Given the description of an element on the screen output the (x, y) to click on. 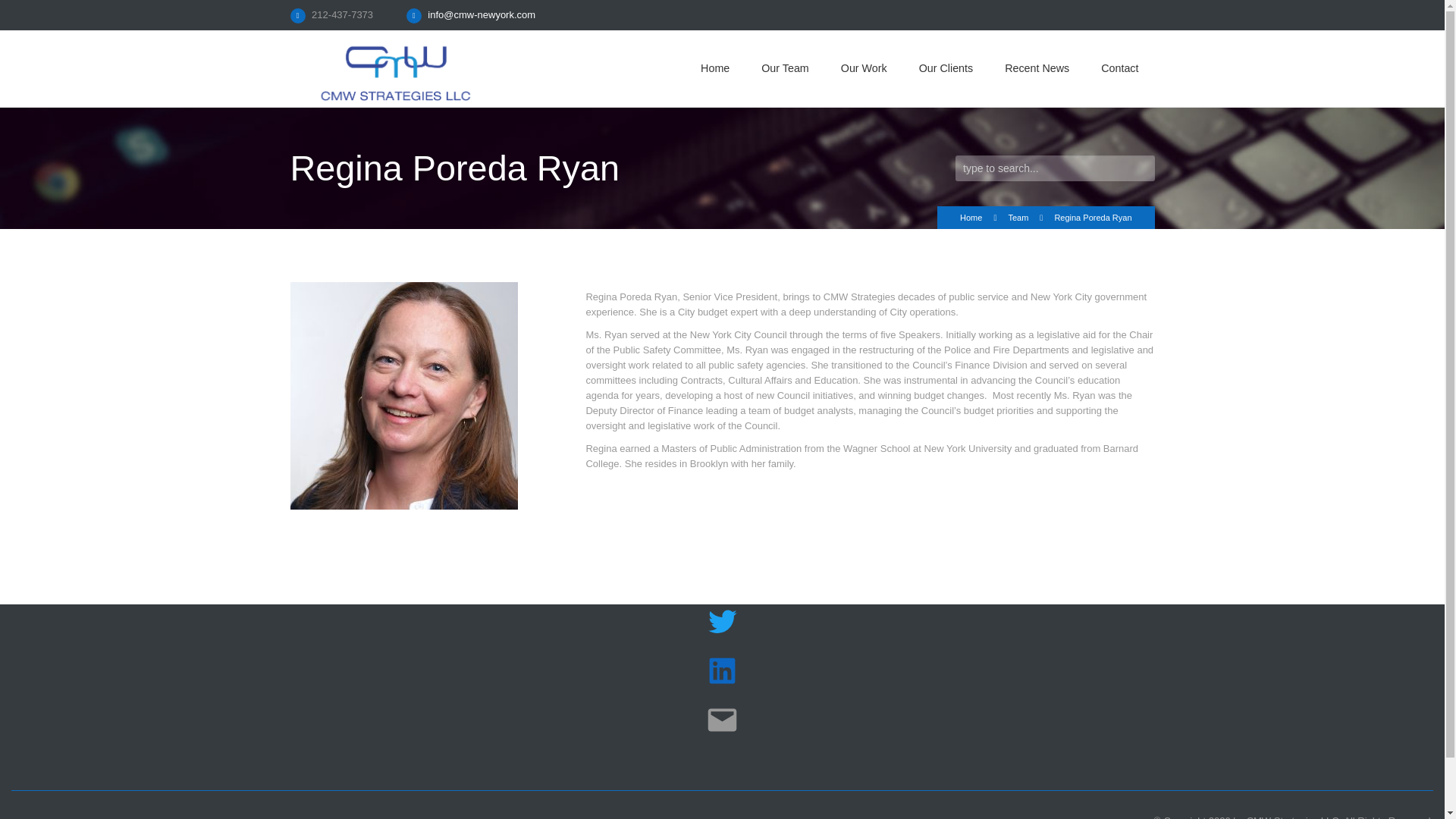
Home (714, 68)
Search (24, 12)
Team (1017, 216)
Contact (1119, 68)
Our Clients (946, 68)
Our Work (863, 68)
Recent News (1036, 68)
Home (970, 216)
Our Team (785, 68)
